Given the description of an element on the screen output the (x, y) to click on. 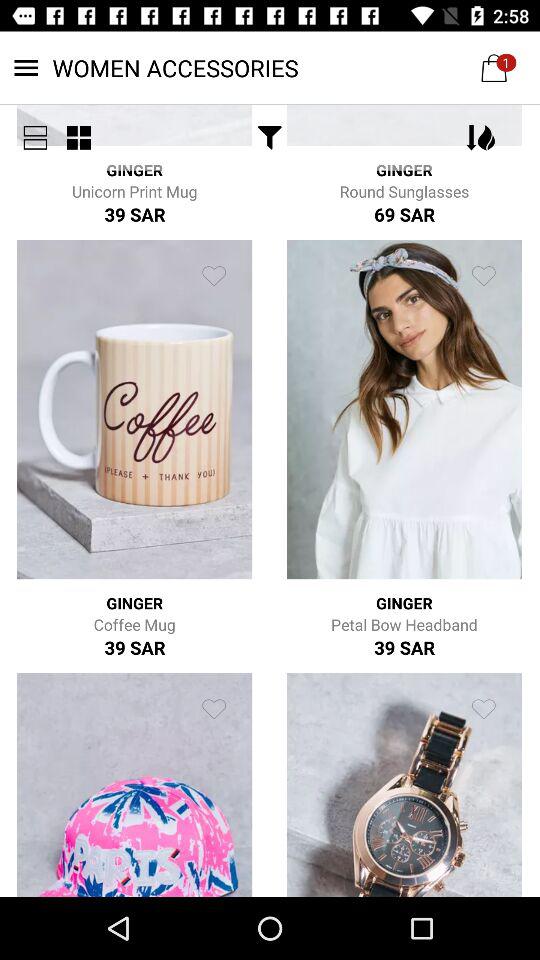
press the item next to the ginger (78, 137)
